Given the description of an element on the screen output the (x, y) to click on. 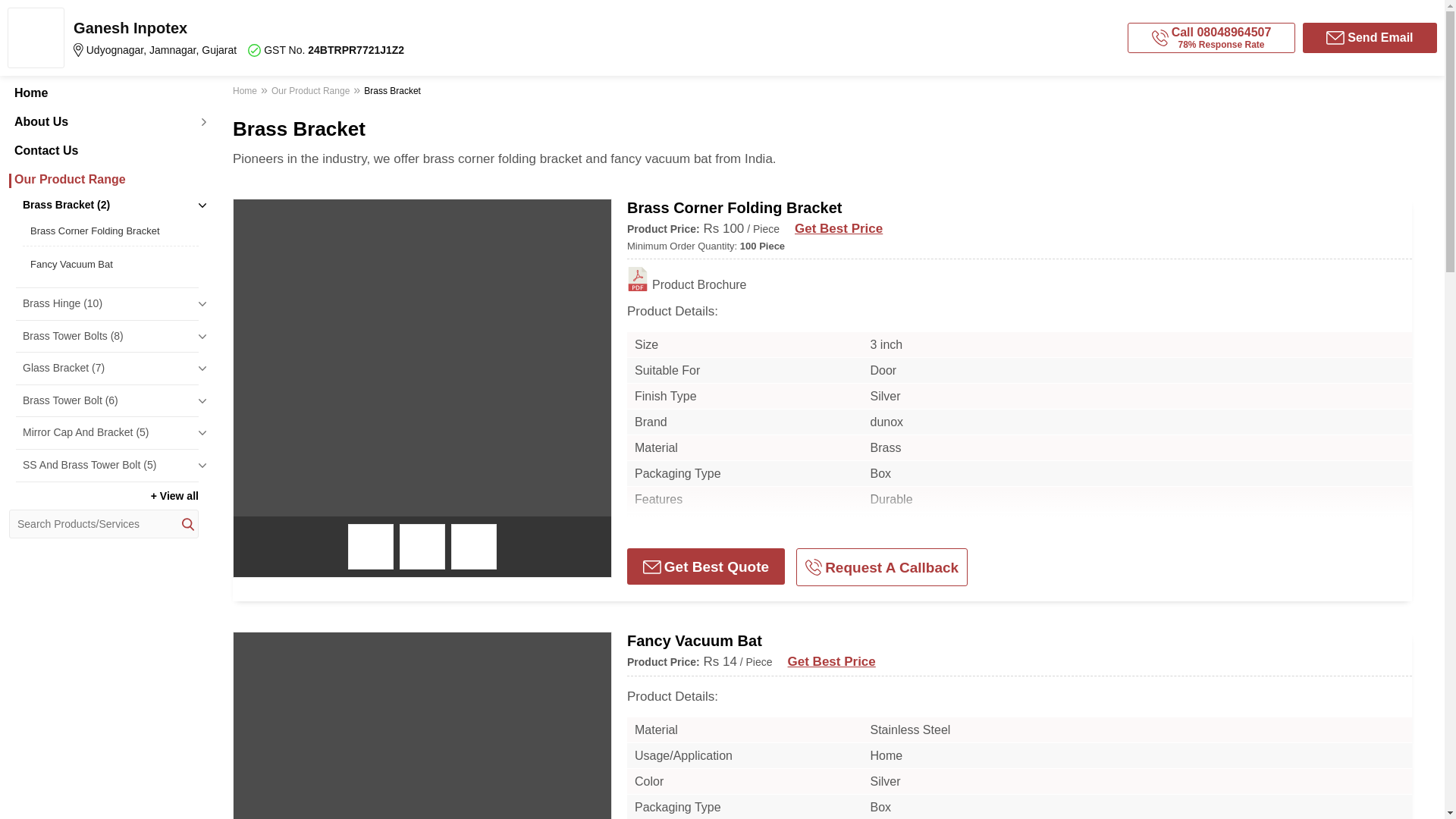
Brass Corner Folding Bracket (110, 231)
Home (103, 92)
Contact Us (103, 150)
Our Product Range (103, 179)
Fancy Vacuum Bat (110, 264)
About Us (103, 121)
